Given the description of an element on the screen output the (x, y) to click on. 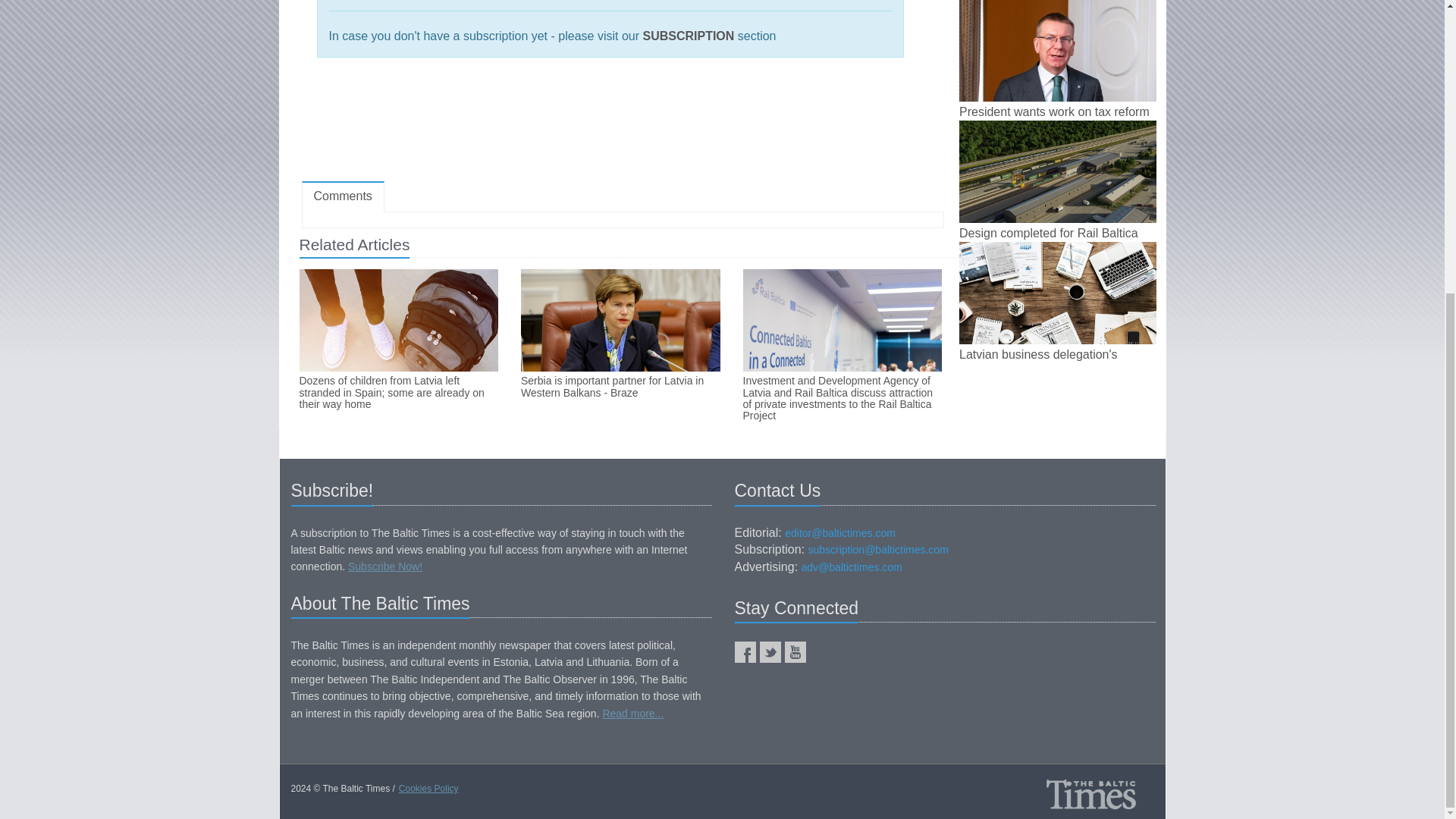
SUBSCRIPTION (687, 35)
Comments (342, 196)
Advertisement (622, 126)
